Given the description of an element on the screen output the (x, y) to click on. 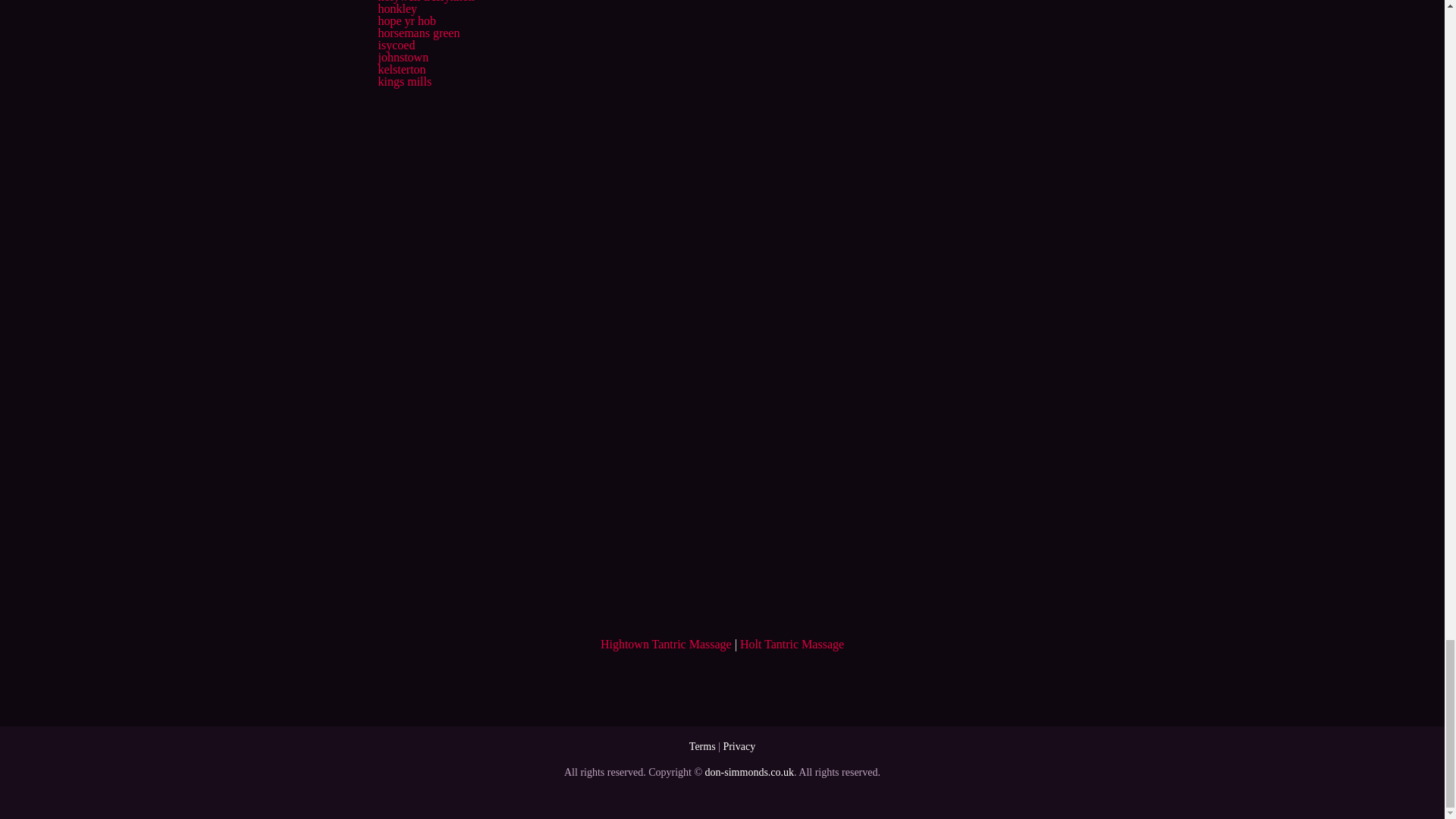
honkley (396, 8)
Privacy (738, 746)
Terms (702, 746)
don-simmonds.co.uk (748, 772)
holywell treffynnon (425, 1)
horsemans green (418, 32)
Privacy (738, 746)
kelsterton (401, 69)
isycoed (395, 44)
Holt Tantric Massage (791, 644)
Hightown Tantric Massage (665, 644)
kings mills (403, 81)
Terms (702, 746)
hope yr hob (406, 20)
johnstown (402, 56)
